Given the description of an element on the screen output the (x, y) to click on. 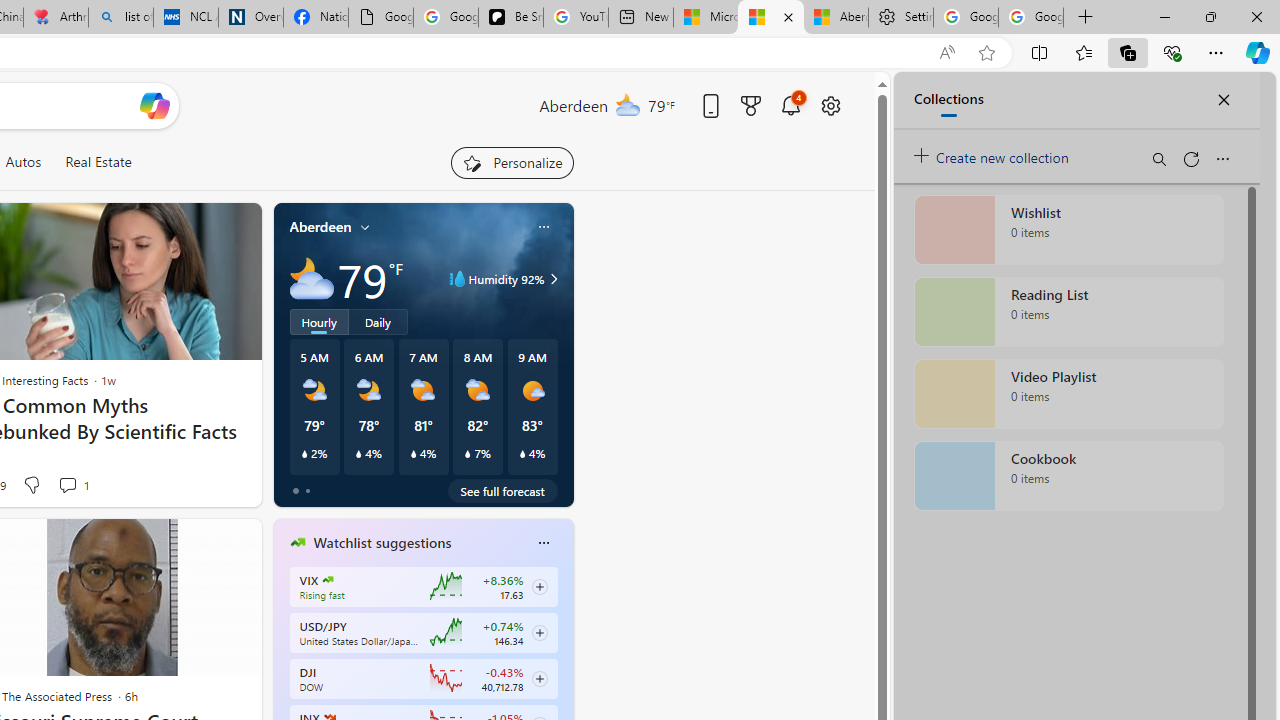
Real Estate (97, 162)
Real Estate (98, 161)
My location (365, 227)
Class: icon-img (543, 542)
Arthritis: Ask Health Professionals (56, 17)
